Given the description of an element on the screen output the (x, y) to click on. 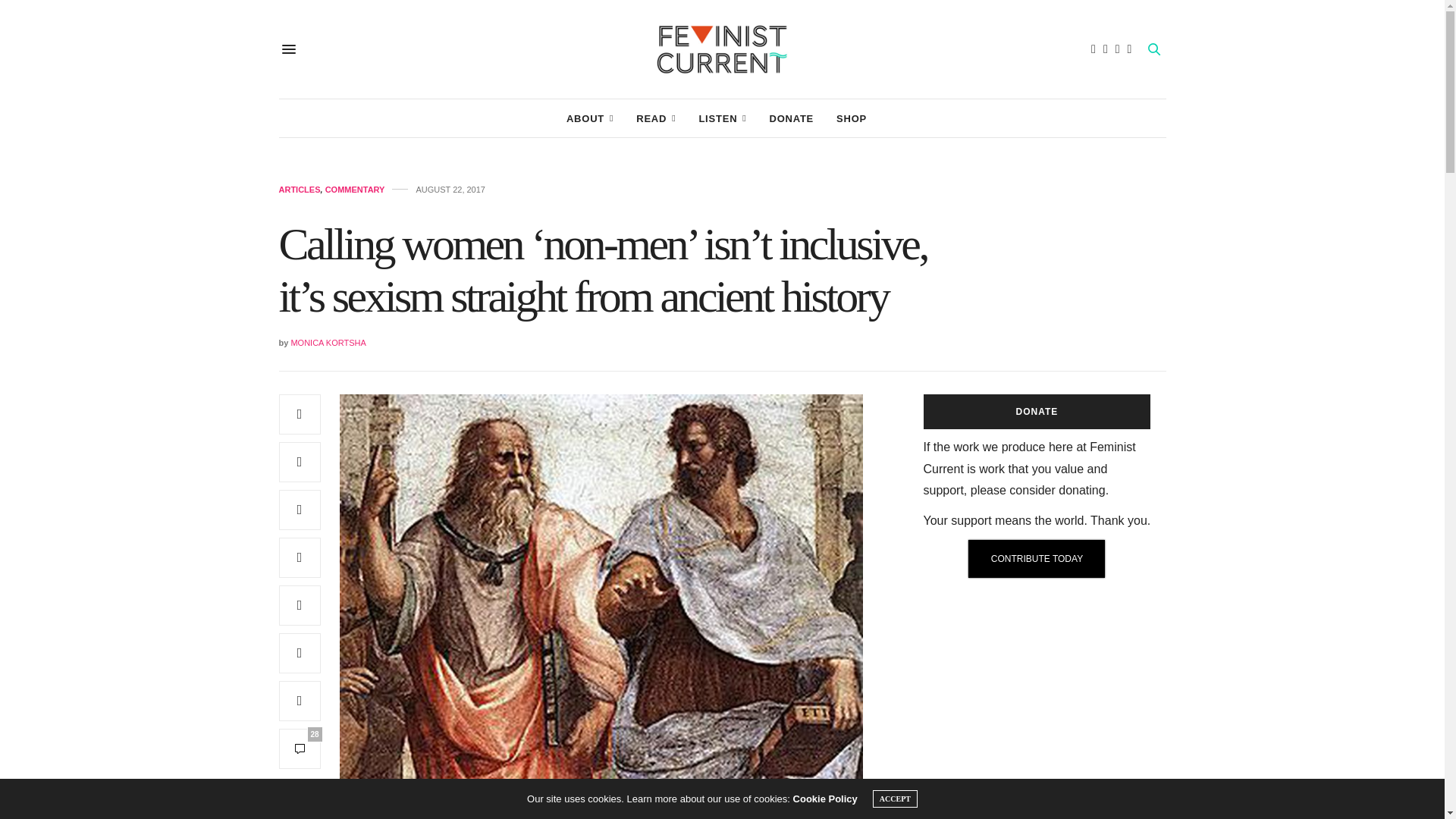
ABOUT (589, 118)
DONATE (790, 118)
ARTICLES (299, 189)
Feminist Current (722, 49)
READ (655, 118)
Posts by Monica Kortsha (327, 342)
LISTEN (721, 118)
